Given the description of an element on the screen output the (x, y) to click on. 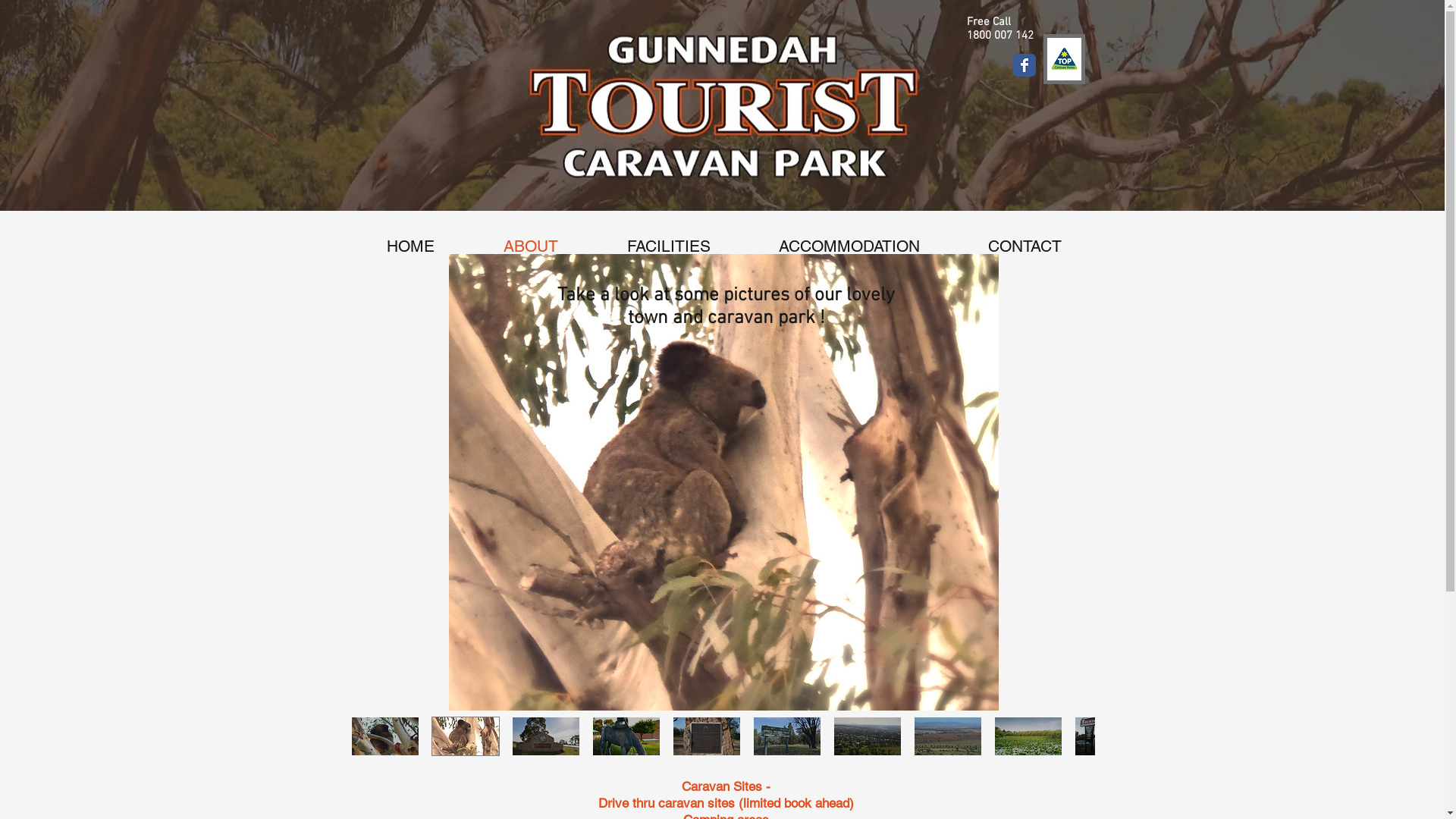
CONTACT Element type: text (1024, 246)
ABOUT Element type: text (530, 246)
TopParksHR_CP logo.jpg Element type: hover (1064, 59)
FACILITIES Element type: text (668, 246)
ACCOMMODATION Element type: text (848, 246)
HOME Element type: text (409, 246)
